Given the description of an element on the screen output the (x, y) to click on. 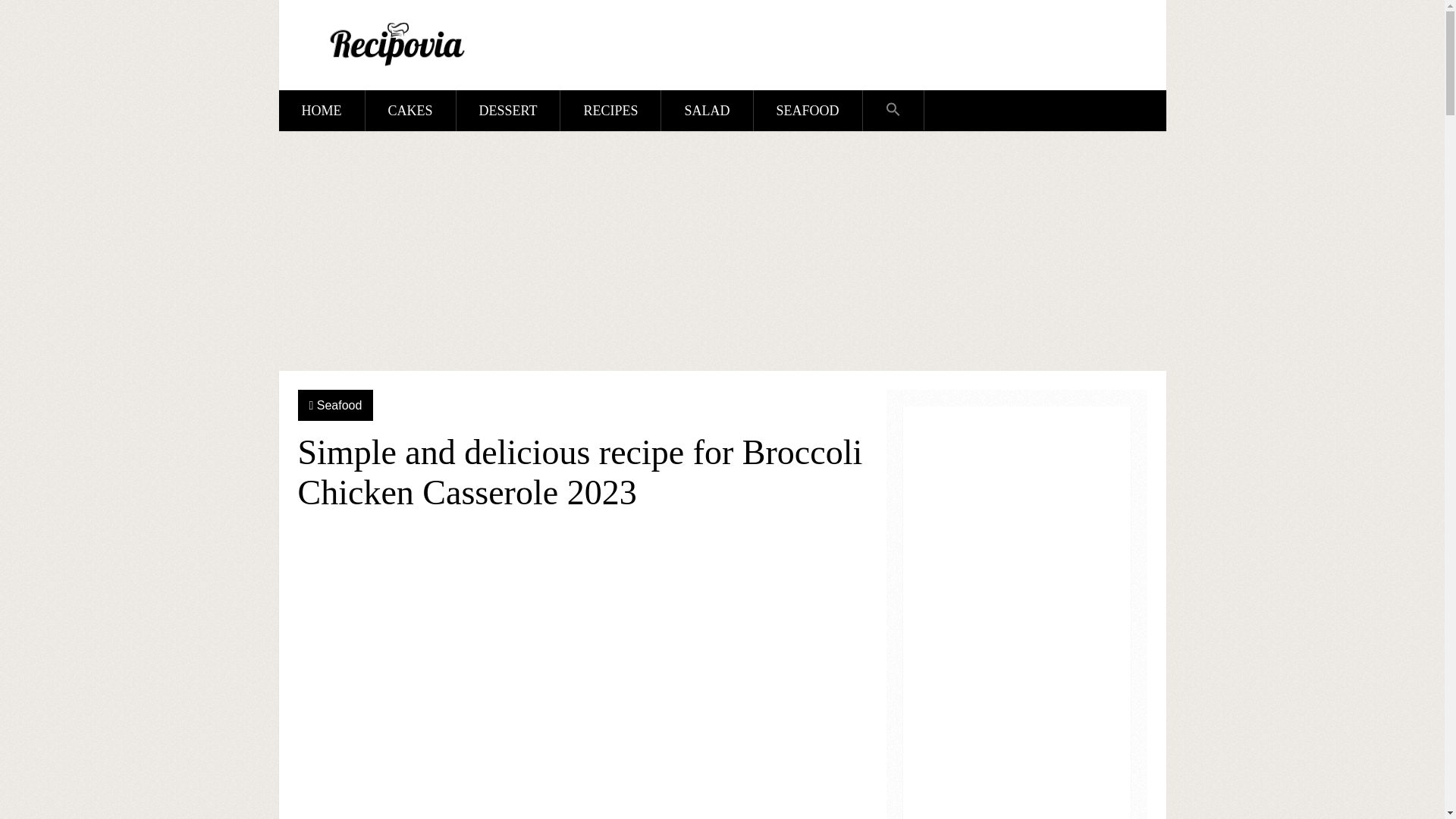
SALAD (706, 110)
NEXT ARTICLE (807, 545)
Advertisement (581, 689)
DESSERT (508, 110)
View all posts in Seafood (339, 404)
CAKES (410, 110)
Seafood (339, 404)
PREV ARTICLE (682, 545)
SEAFOOD (807, 110)
